Given the description of an element on the screen output the (x, y) to click on. 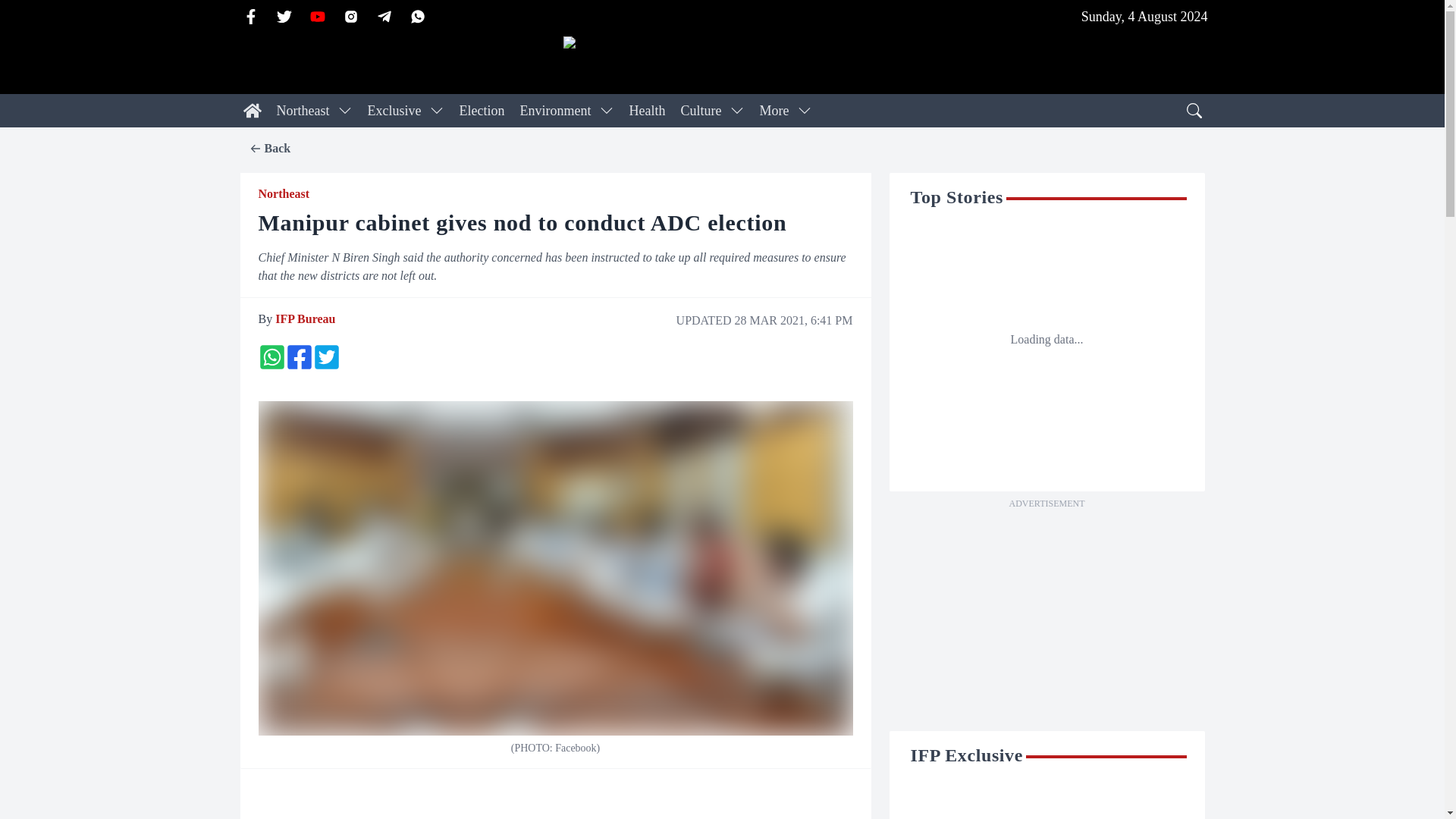
Health (647, 110)
Culture (700, 110)
Back (268, 148)
Advertisement (1046, 618)
Environment (554, 110)
Northeast (301, 110)
Exclusive (393, 110)
More (773, 110)
Election (481, 110)
